Given the description of an element on the screen output the (x, y) to click on. 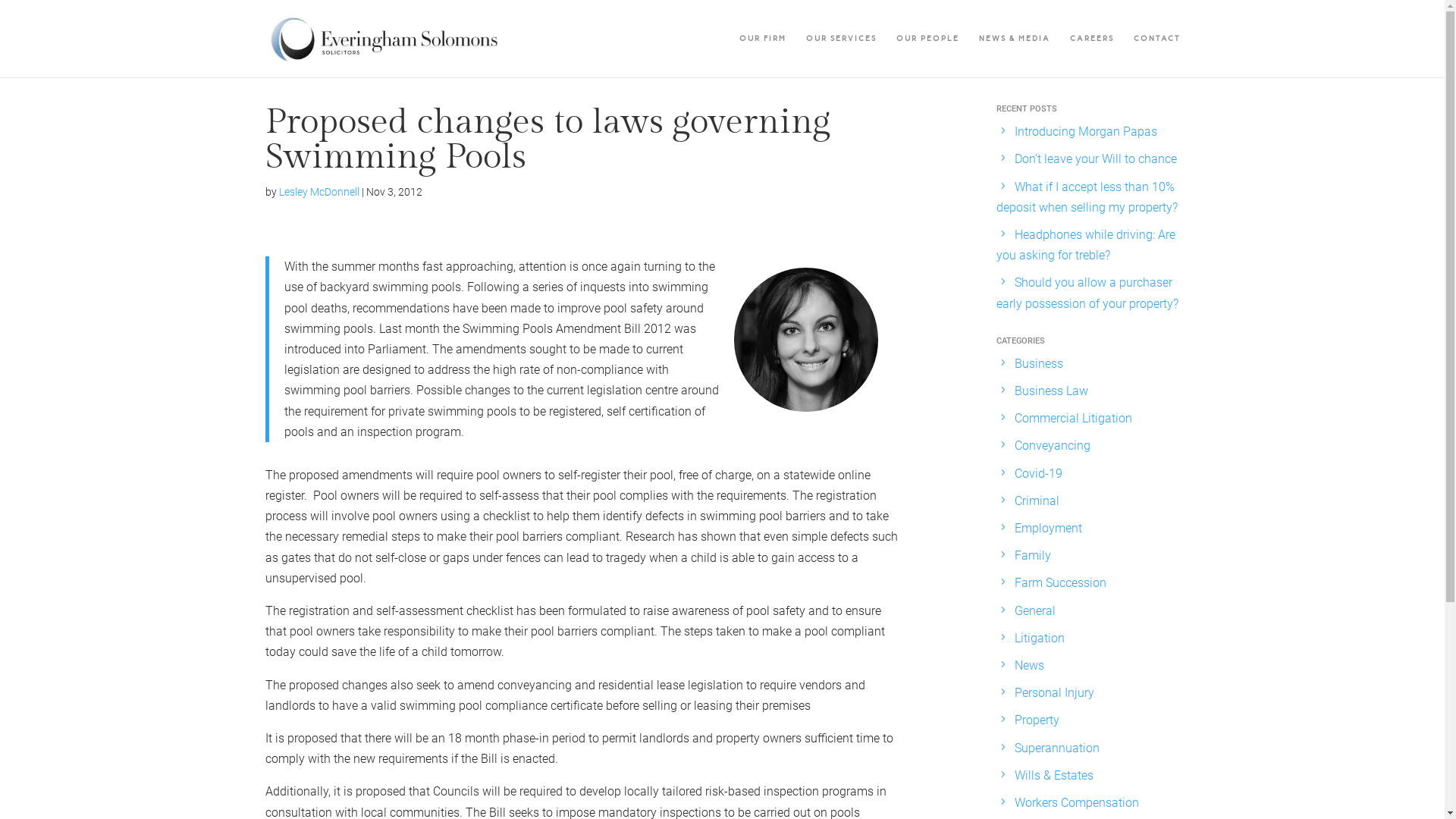
Personal Injury Element type: text (1054, 692)
Business Element type: text (1038, 363)
Commercial Litigation Element type: text (1073, 418)
Lesley McDonnell Element type: text (319, 191)
CONTACT Element type: text (1155, 55)
General Element type: text (1034, 610)
Employment Element type: text (1048, 527)
Family Element type: text (1032, 555)
Conveyancing Element type: text (1052, 445)
Workers Compensation Element type: text (1076, 802)
Covid-19 Element type: text (1038, 473)
Business Law Element type: text (1051, 390)
Introducing Morgan Papas Element type: text (1085, 131)
Farm Succession Element type: text (1060, 582)
OUR PEOPLE Element type: text (927, 55)
Headphones while driving: Are you asking for treble? Element type: text (1085, 244)
News Element type: text (1029, 665)
Superannuation Element type: text (1056, 747)
CAREERS Element type: text (1091, 55)
Criminal Element type: text (1036, 500)
Property Element type: text (1036, 719)
OUR FIRM Element type: text (761, 55)
Wills & Estates Element type: text (1053, 775)
NEWS & MEDIA Element type: text (1013, 55)
OUR SERVICES Element type: text (840, 55)
Litigation Element type: text (1039, 637)
